Given the description of an element on the screen output the (x, y) to click on. 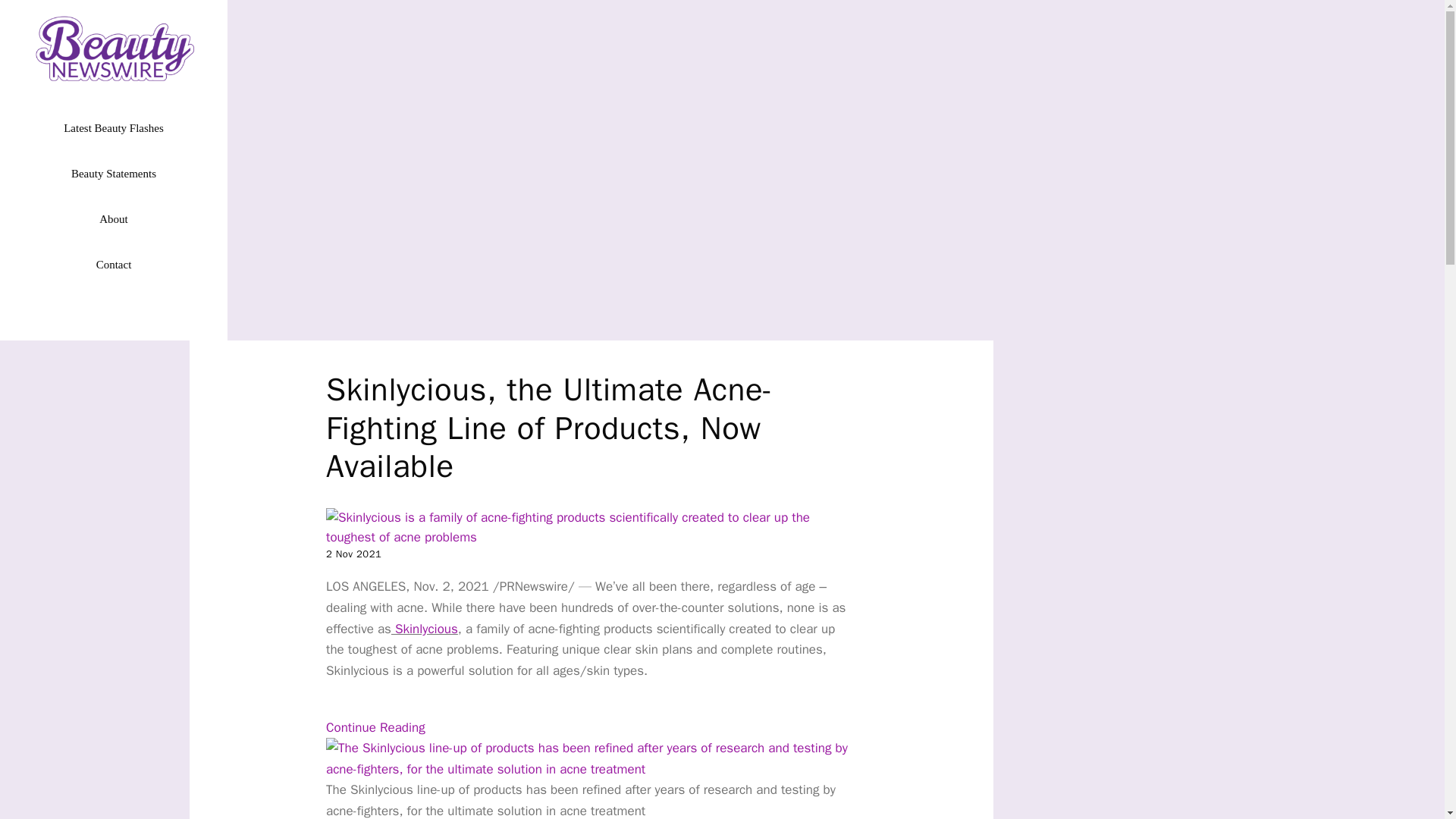
Beauty Statements (113, 173)
Continue Reading (375, 727)
About (113, 218)
Latest Beauty Flashes (113, 127)
Contact (113, 264)
 Skinlycious (424, 628)
Continue Reading (375, 727)
